Given the description of an element on the screen output the (x, y) to click on. 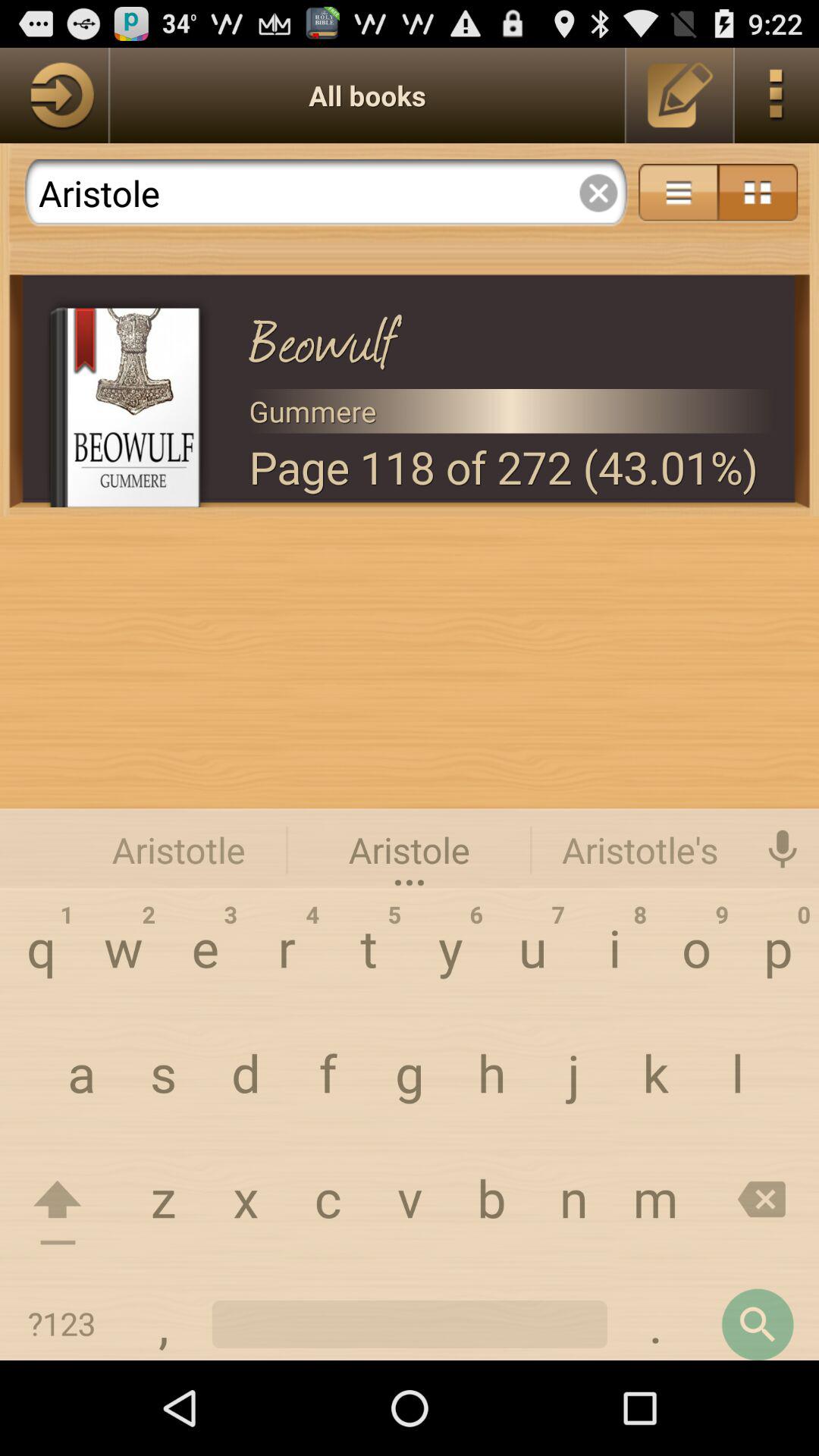
go to menu (678, 192)
